Given the description of an element on the screen output the (x, y) to click on. 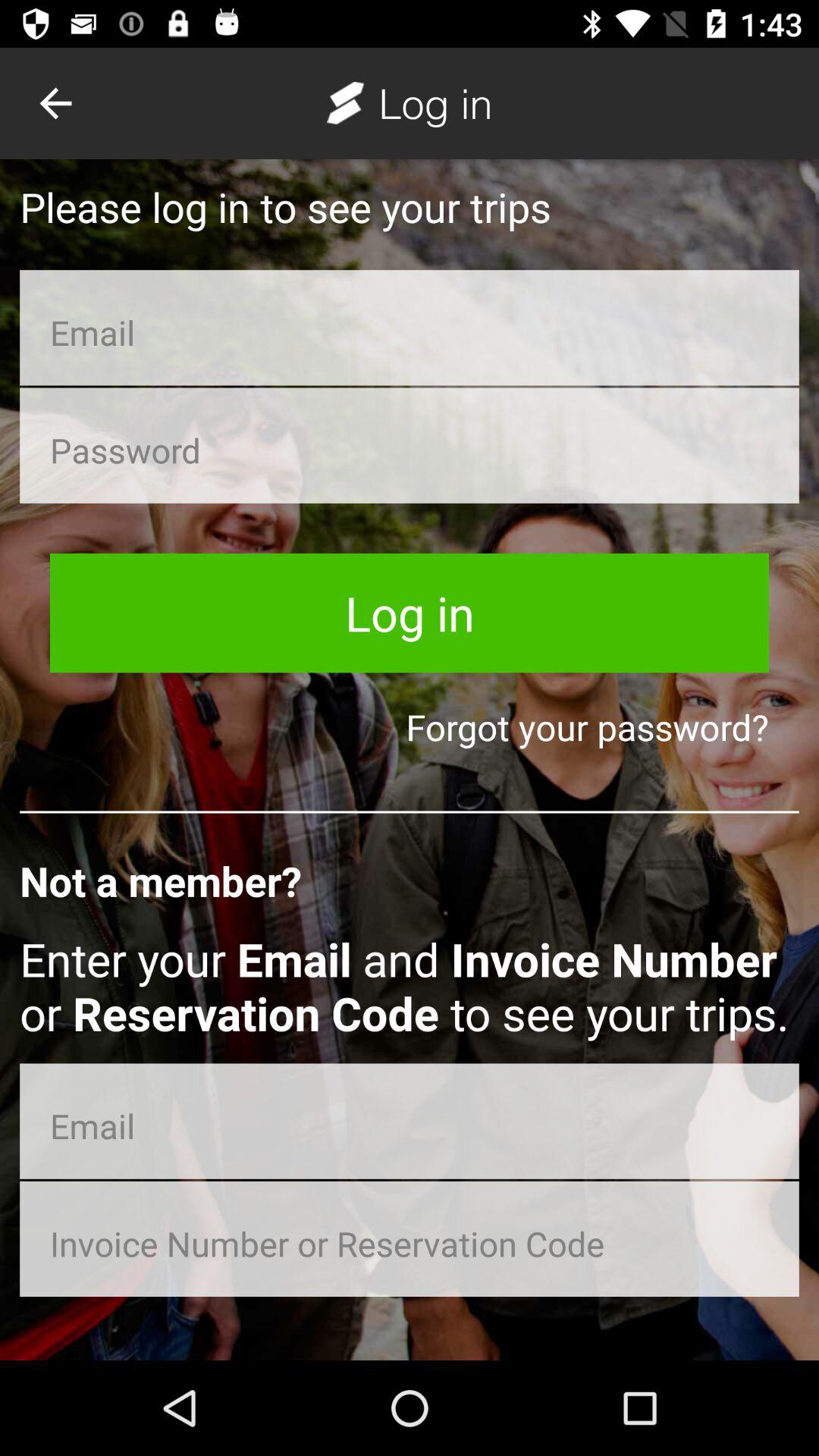
enter email (409, 1121)
